Given the description of an element on the screen output the (x, y) to click on. 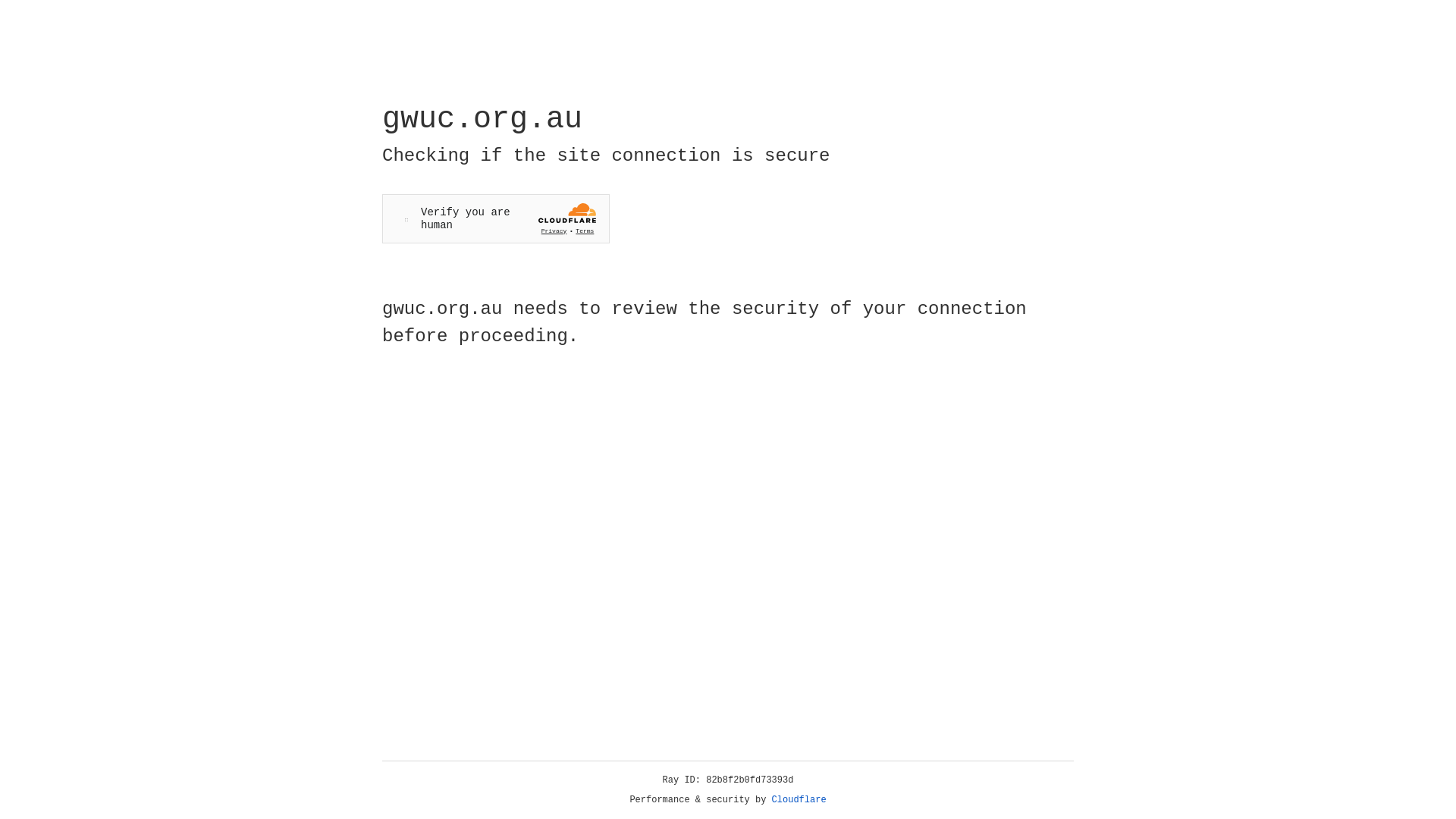
Cloudflare Element type: text (798, 799)
Widget containing a Cloudflare security challenge Element type: hover (495, 218)
